Given the description of an element on the screen output the (x, y) to click on. 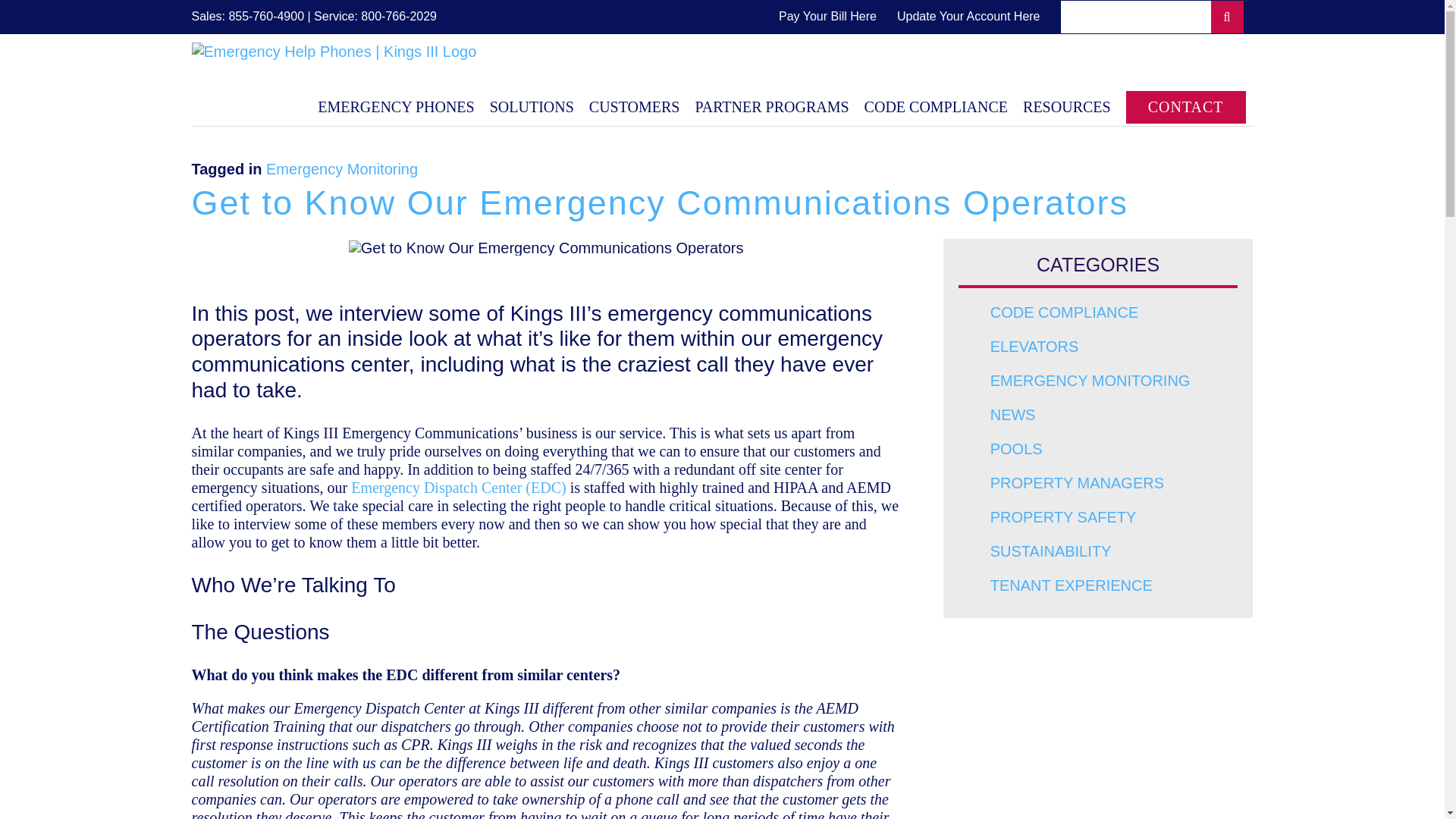
CUSTOMERS (633, 106)
CODE COMPLIANCE (935, 106)
Kings III Emergency Dispatch Center (458, 487)
Pay Your Bill Here (827, 16)
Update Your Account Here (967, 16)
Search for: (1152, 16)
EMERGENCY PHONES (395, 106)
PARTNER PROGRAMS (771, 106)
SOLUTIONS (530, 106)
Sales: 855-760-4900 (247, 15)
